Given the description of an element on the screen output the (x, y) to click on. 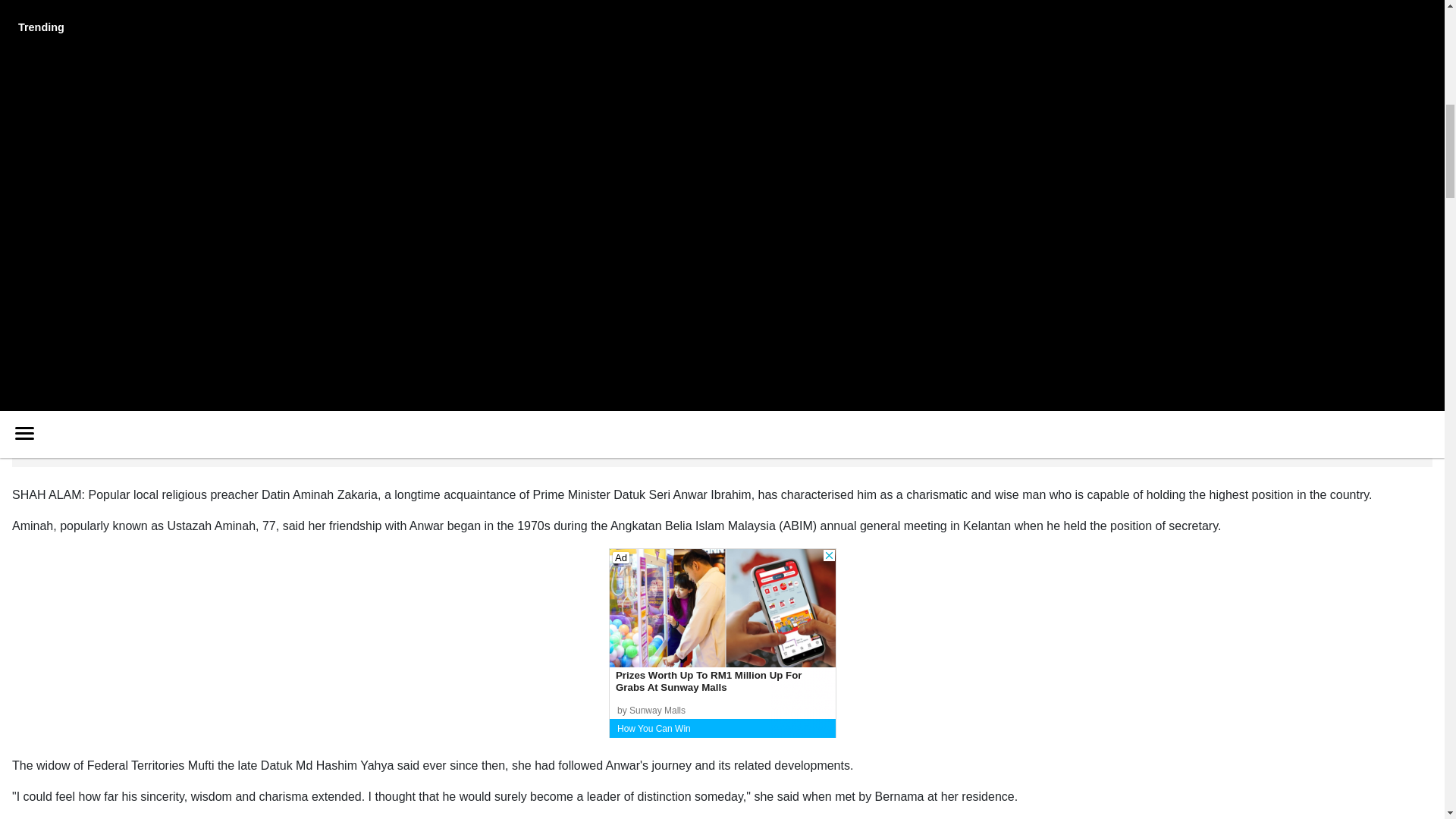
3rd party ad content (721, 642)
